Given the description of an element on the screen output the (x, y) to click on. 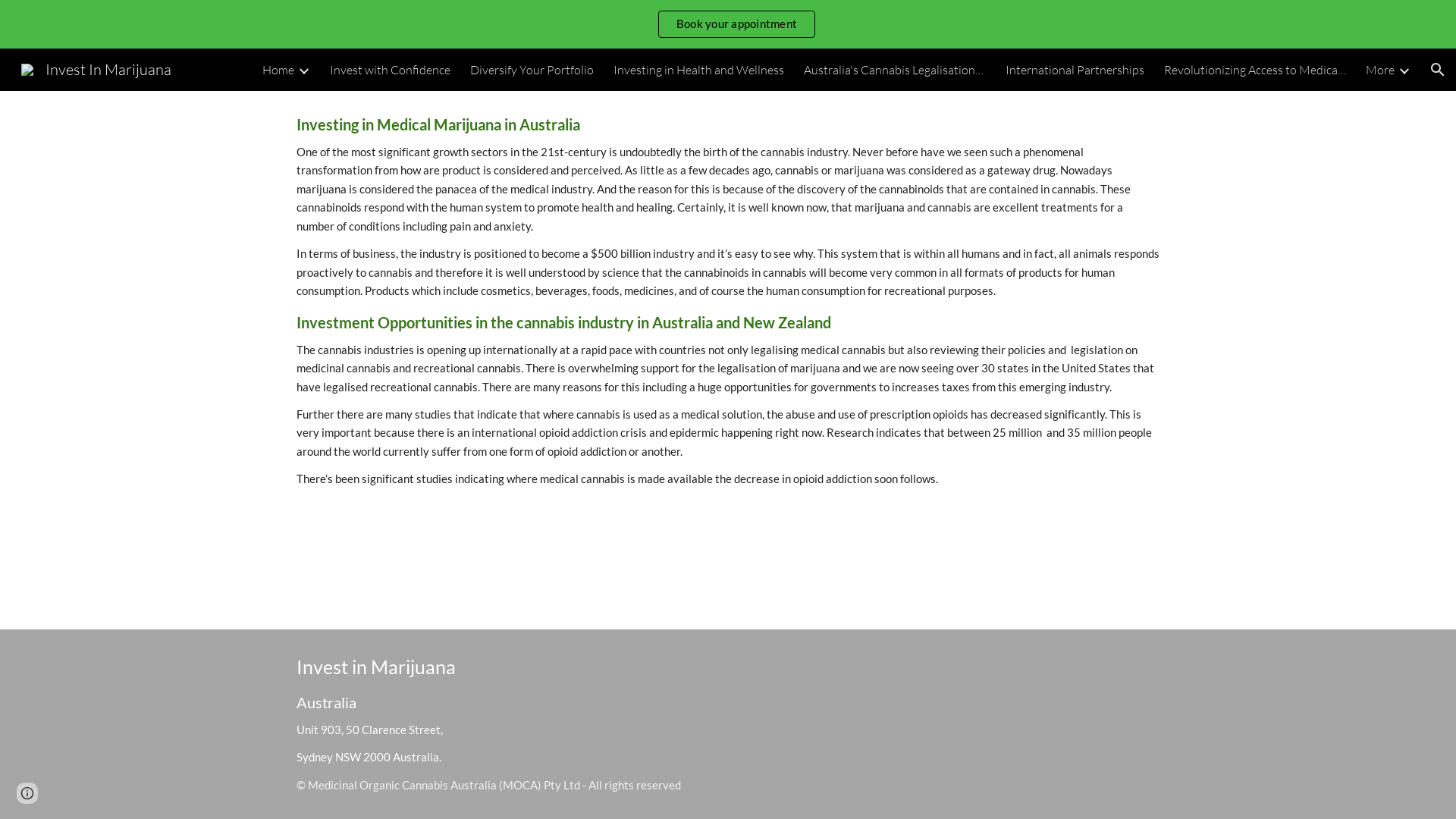
Expand/Collapse Element type: hover (303, 69)
Expand/Collapse Element type: hover (1403, 69)
Revolutionizing Access to Medical Cannabis with MOCA Element type: text (1255, 69)
Diversify Your Portfolio Element type: text (531, 69)
International Partnerships Element type: text (1074, 69)
Home Element type: text (278, 69)
Investing in Health and Wellness Element type: text (698, 69)
More Element type: text (1379, 69)
Book your appointment Element type: text (736, 24)
Invest with Confidence Element type: text (389, 69)
Invest In Marijuana Element type: text (96, 67)
